Given the description of an element on the screen output the (x, y) to click on. 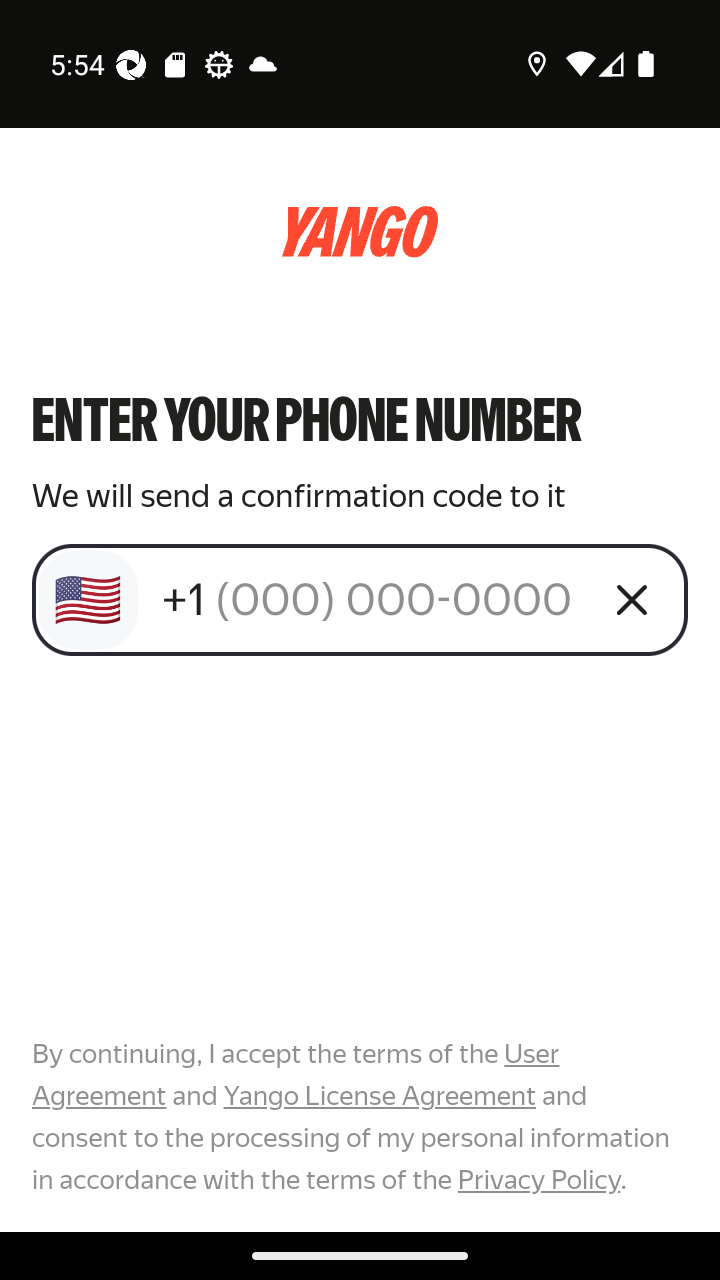
logo (359, 231)
🇺🇸 (88, 600)
+1 (372, 599)
User Agreement (295, 1075)
Yango License Agreement (379, 1096)
Privacy Policy (538, 1179)
